Given the description of an element on the screen output the (x, y) to click on. 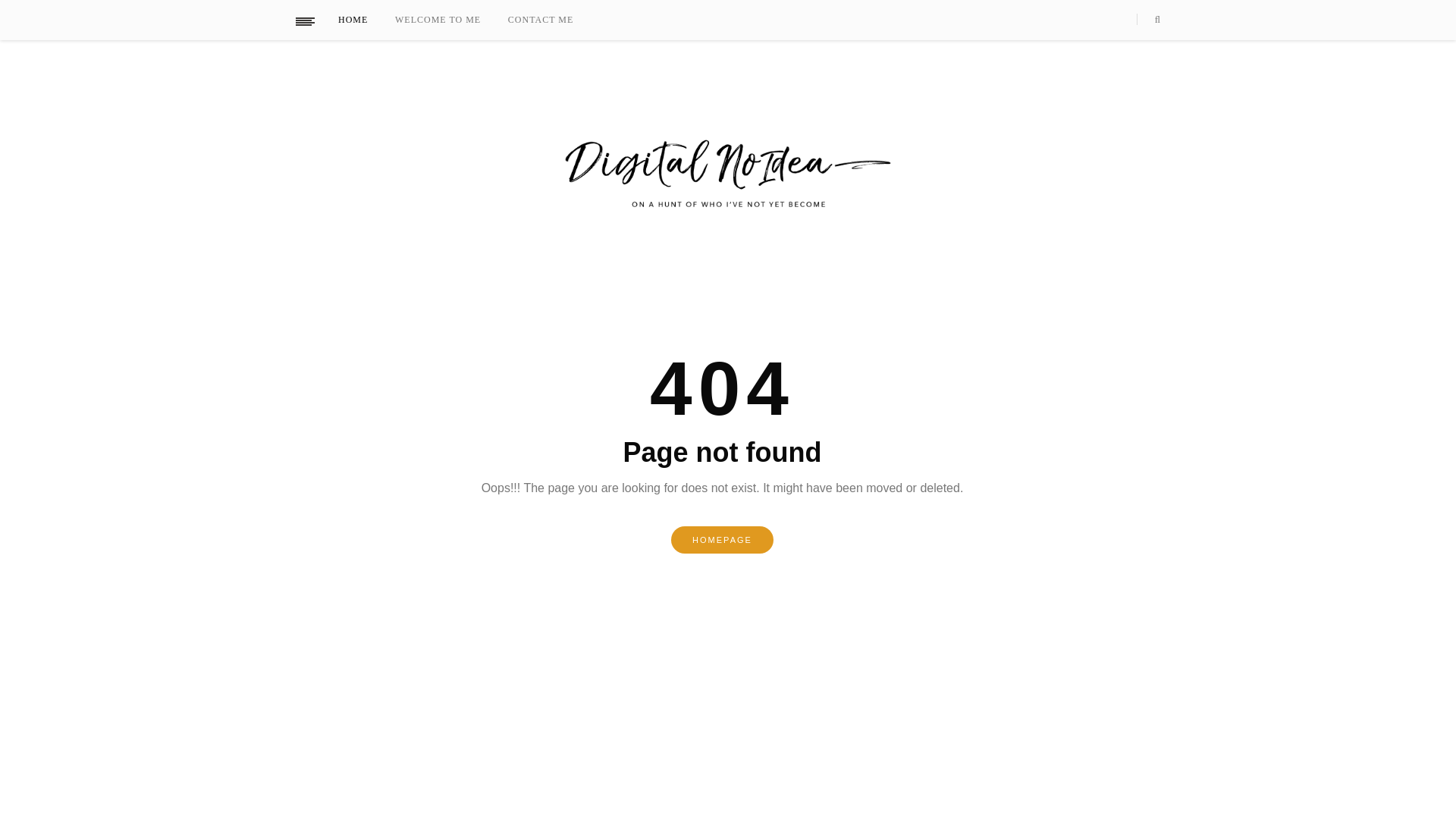
HOME (364, 19)
WELCOME TO ME (449, 19)
HOMEPAGE (722, 539)
CONTACT ME (553, 19)
